Given the description of an element on the screen output the (x, y) to click on. 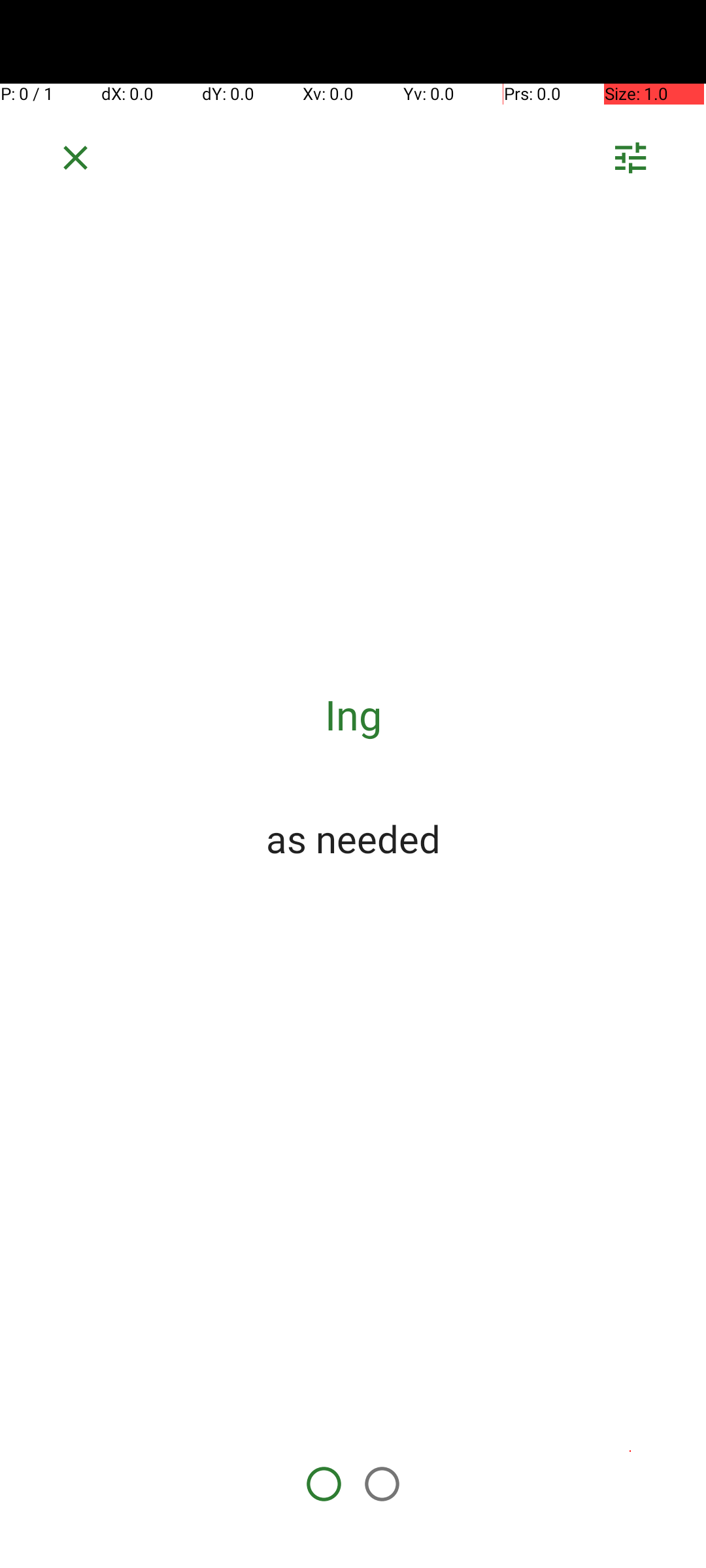
as needed Element type: android.widget.TextView (353, 838)
